Given the description of an element on the screen output the (x, y) to click on. 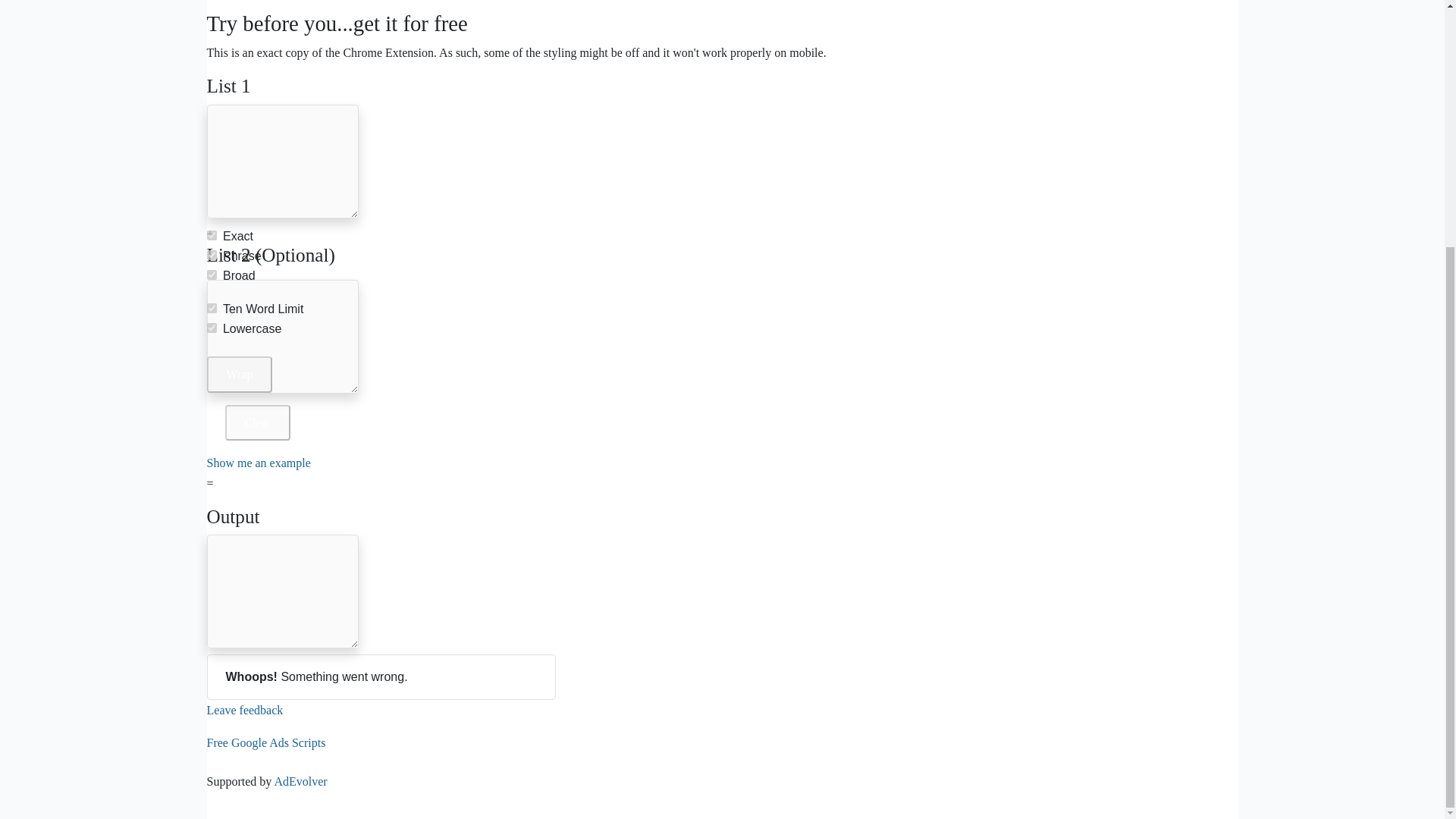
Free Google Ads Scripts (265, 733)
Leave feedback (244, 709)
Wrap (239, 374)
Exact (210, 235)
Phrase (210, 255)
Broad (210, 275)
ten-word-limit (210, 307)
Show me an example (258, 462)
AdEvolver (299, 780)
Clear (256, 422)
lowercase (210, 327)
